Given the description of an element on the screen output the (x, y) to click on. 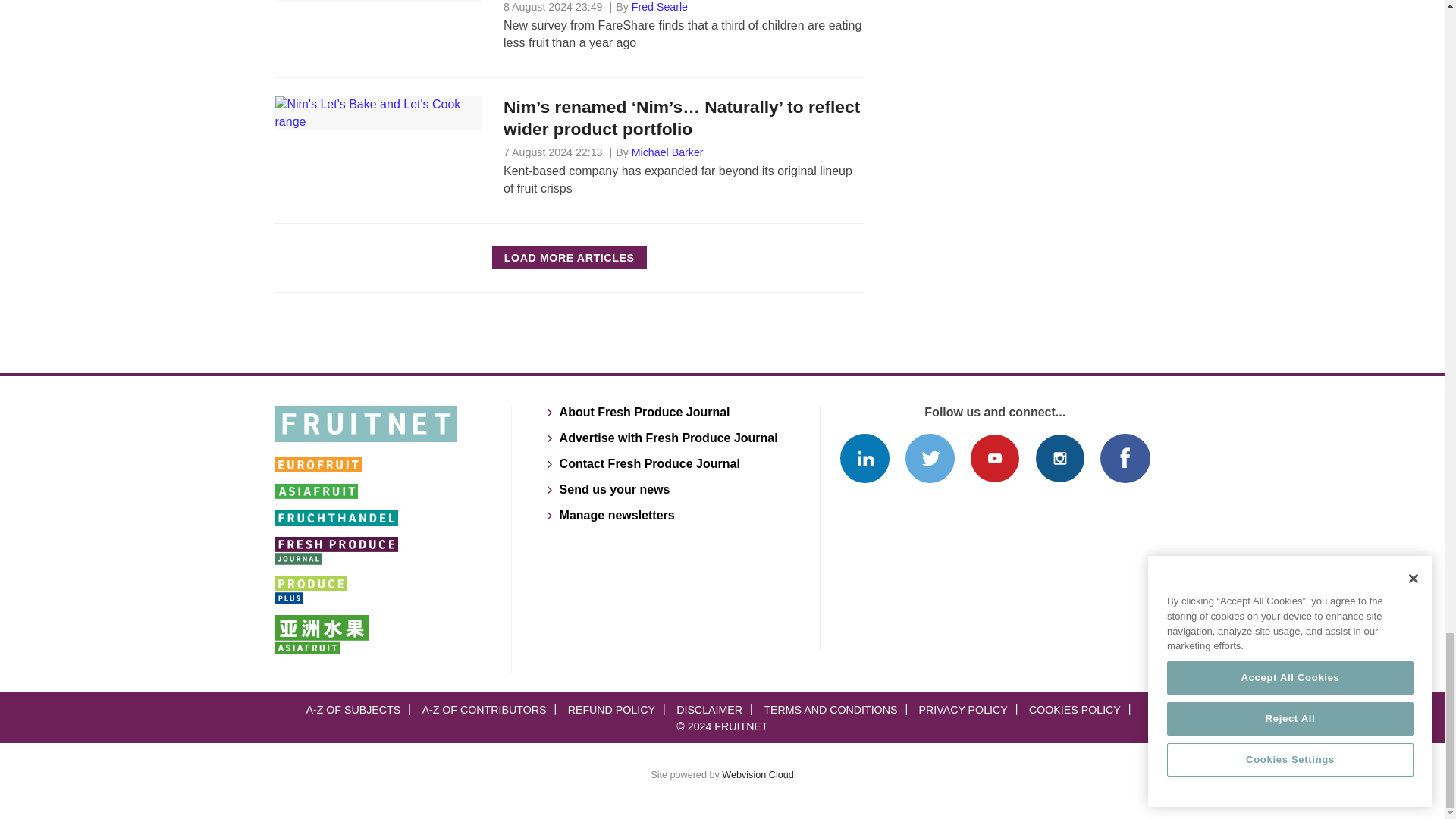
Connect with us on Twitter (930, 458)
Follow us on Linked In (864, 458)
Follow us on Facebook (1125, 458)
Connect with us on Youtube (994, 458)
Follow us on Instagram (1059, 458)
